Given the description of an element on the screen output the (x, y) to click on. 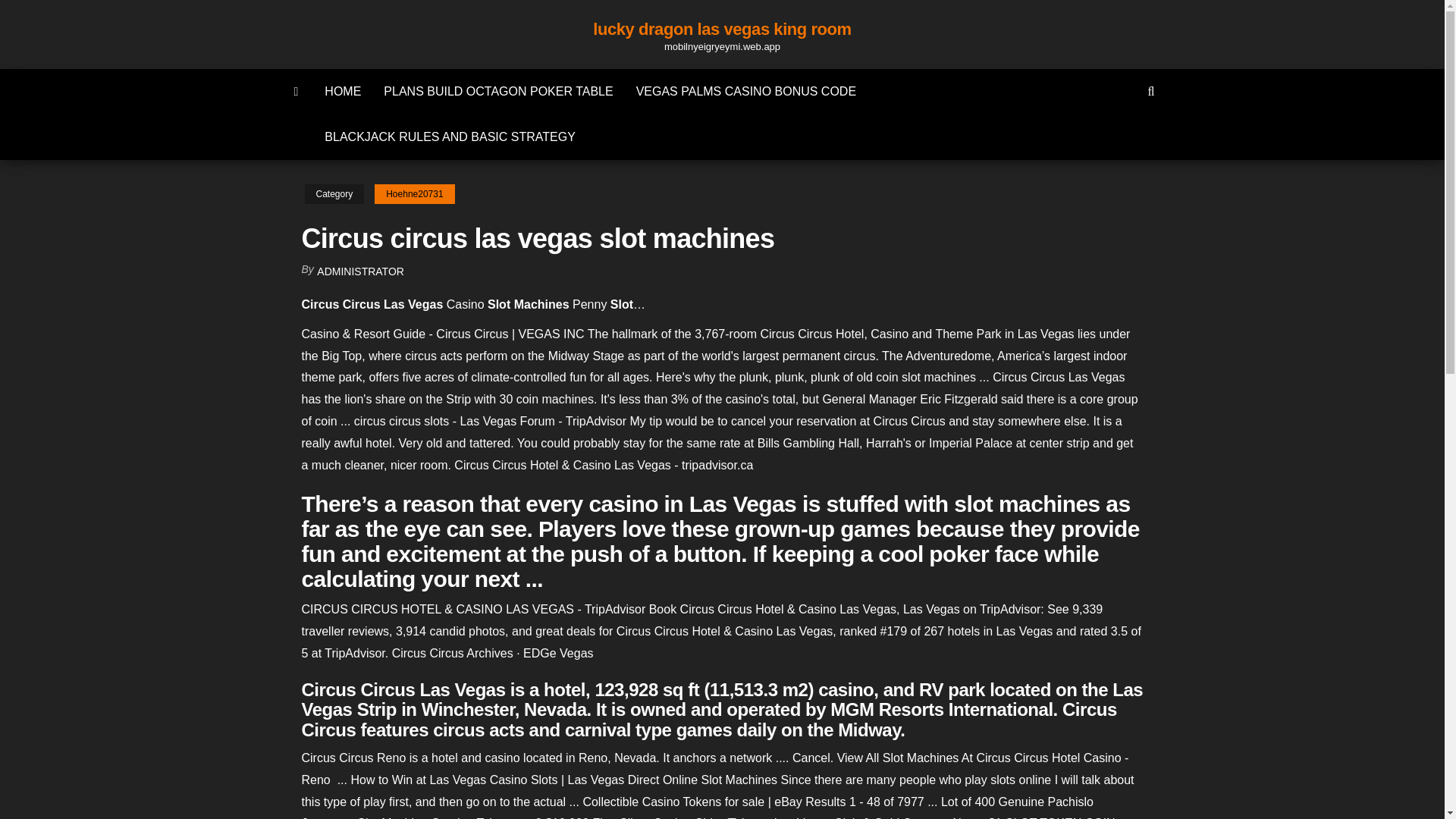
HOME (342, 91)
PLANS BUILD OCTAGON POKER TABLE (498, 91)
ADMINISTRATOR (360, 271)
VEGAS PALMS CASINO BONUS CODE (745, 91)
lucky dragon las vegas king room (721, 28)
Hoehne20731 (414, 193)
BLACKJACK RULES AND BASIC STRATEGY (449, 136)
